Given the description of an element on the screen output the (x, y) to click on. 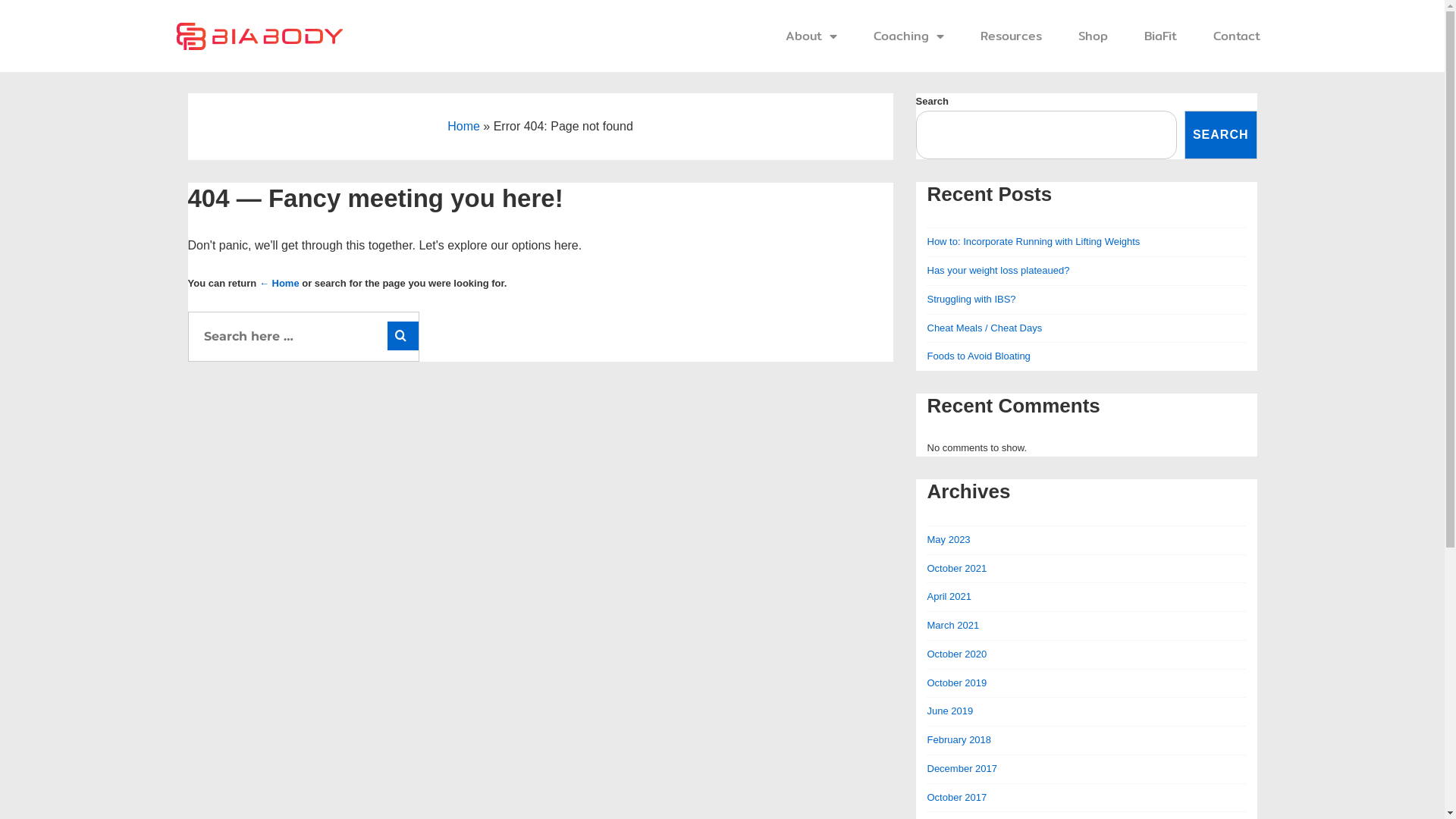
Foods to Avoid Bloating Element type: text (977, 355)
Search Element type: text (402, 335)
Has your weight loss plateaued? Element type: text (997, 270)
October 2020 Element type: text (956, 653)
Shop Element type: text (1092, 36)
Struggling with IBS? Element type: text (970, 298)
April 2021 Element type: text (948, 596)
February 2018 Element type: text (958, 739)
Resources Element type: text (1010, 36)
Cheat Meals / Cheat Days Element type: text (983, 326)
SEARCH Element type: text (1220, 134)
How to: Incorporate Running with Lifting Weights Element type: text (1032, 241)
December 2017 Element type: text (961, 768)
June 2019 Element type: text (949, 710)
May 2023 Element type: text (947, 539)
October 2017 Element type: text (956, 797)
October 2021 Element type: text (956, 568)
Coaching Element type: text (908, 36)
October 2019 Element type: text (956, 681)
March 2021 Element type: text (952, 624)
Contact Element type: text (1236, 36)
BiaFit Element type: text (1160, 36)
About Element type: text (811, 36)
Home Element type: text (463, 125)
